Given the description of an element on the screen output the (x, y) to click on. 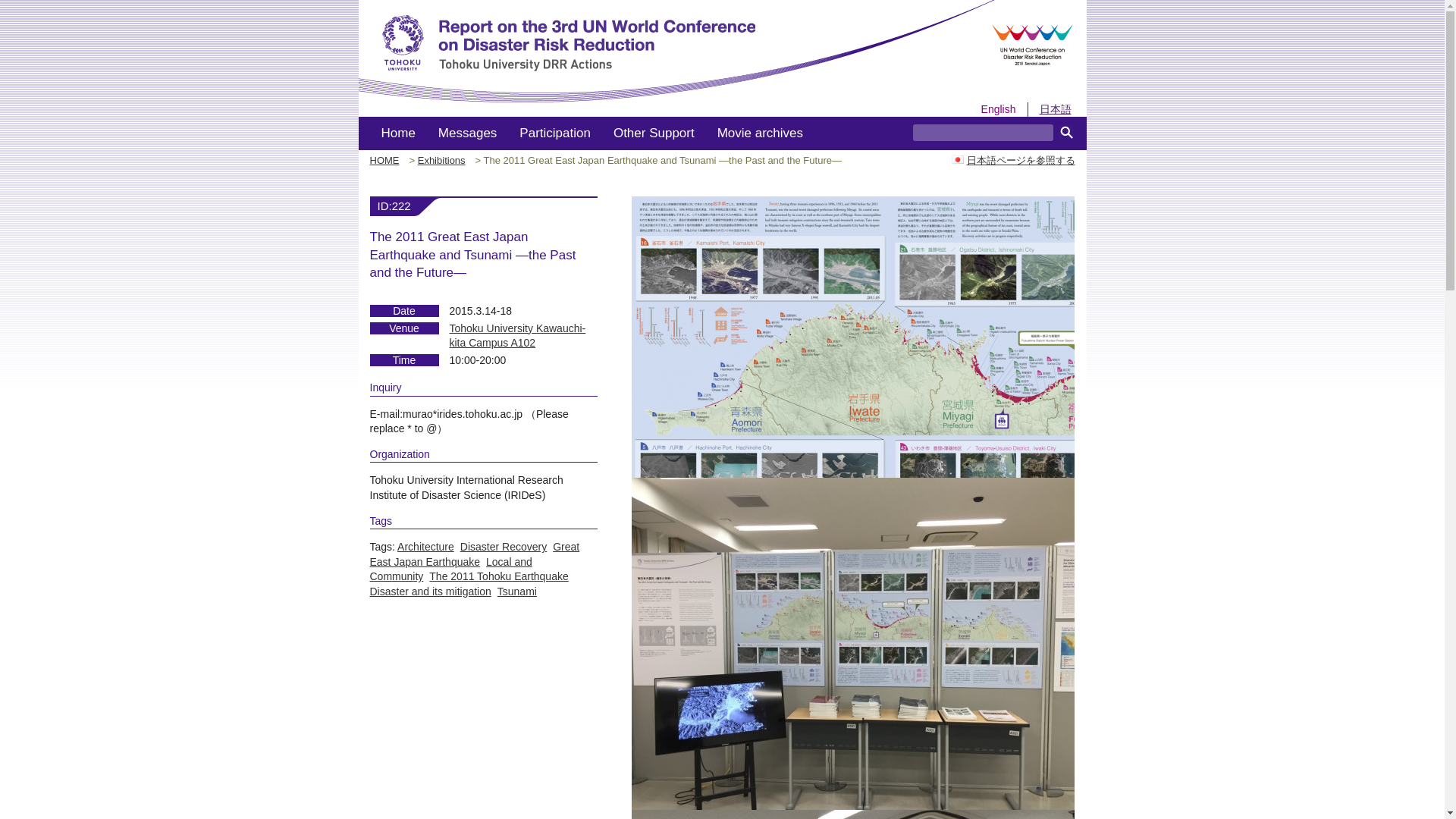
Great East Japan Earthquake (474, 554)
Messages (467, 133)
Movie archives (759, 133)
Other Support (654, 133)
HOME (383, 160)
Tohoku University Kawauchi-kita Campus A102 (516, 335)
Architecture (425, 546)
Exhibitions (441, 160)
